Given the description of an element on the screen output the (x, y) to click on. 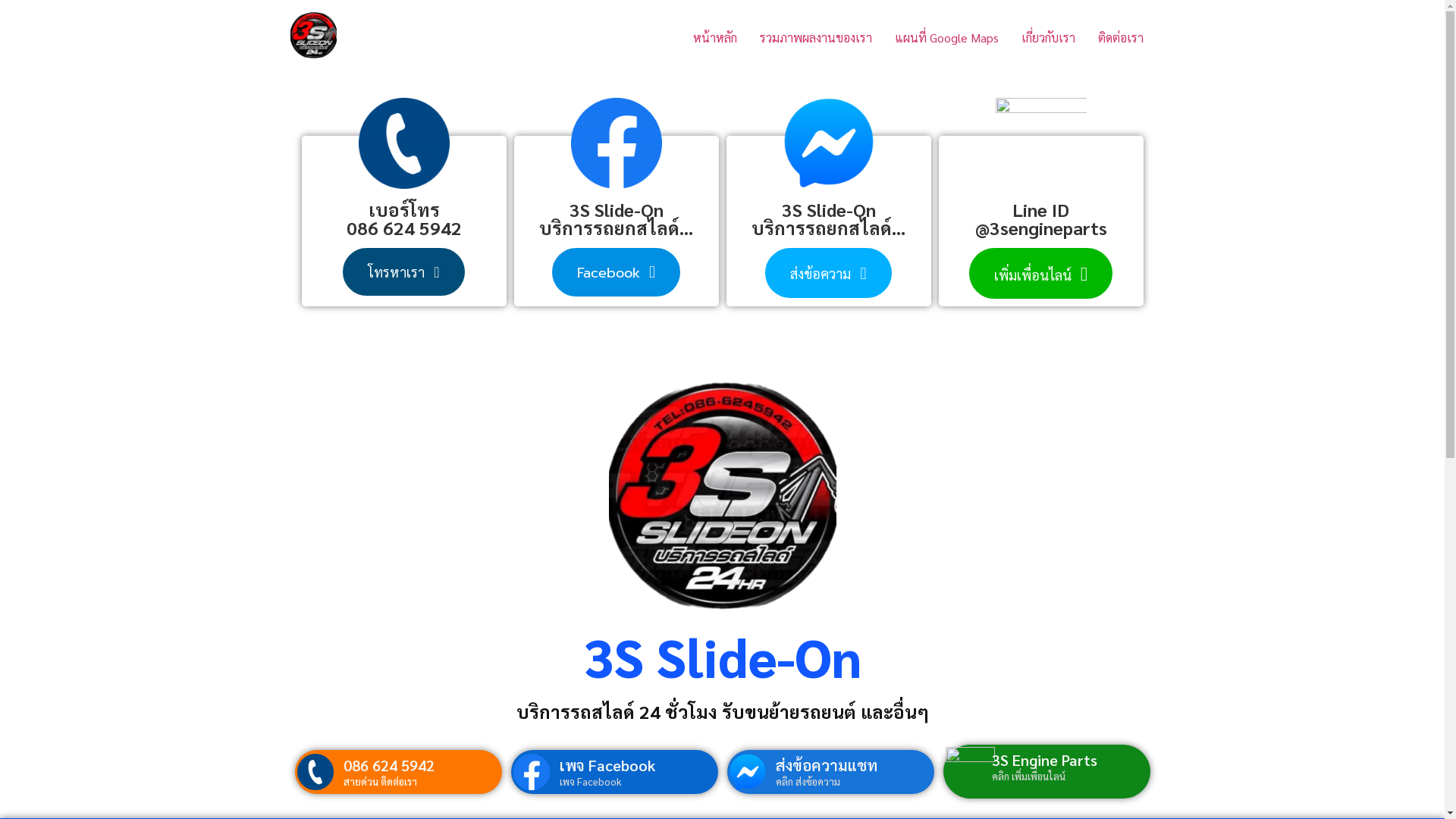
086 624 5942 Element type: text (388, 765)
Facebook Element type: text (616, 271)
3S Engine Parts Element type: text (1044, 759)
3S Slide-On Element type: text (721, 655)
